Given the description of an element on the screen output the (x, y) to click on. 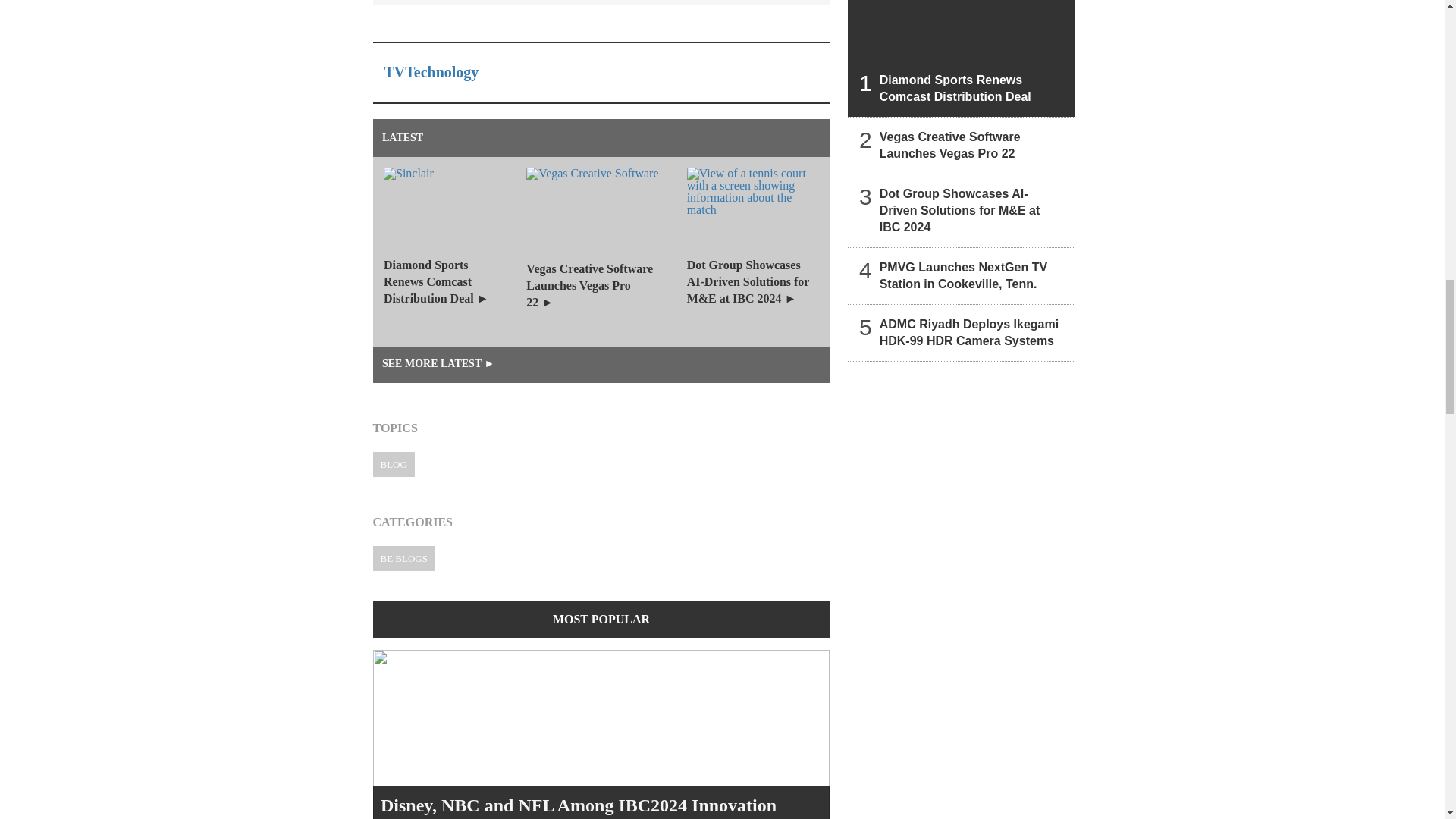
BE BLOGS (403, 558)
Diamond Sports Renews Comcast Distribution Deal (961, 58)
BLOG (393, 464)
TVTechnology (431, 71)
